Given the description of an element on the screen output the (x, y) to click on. 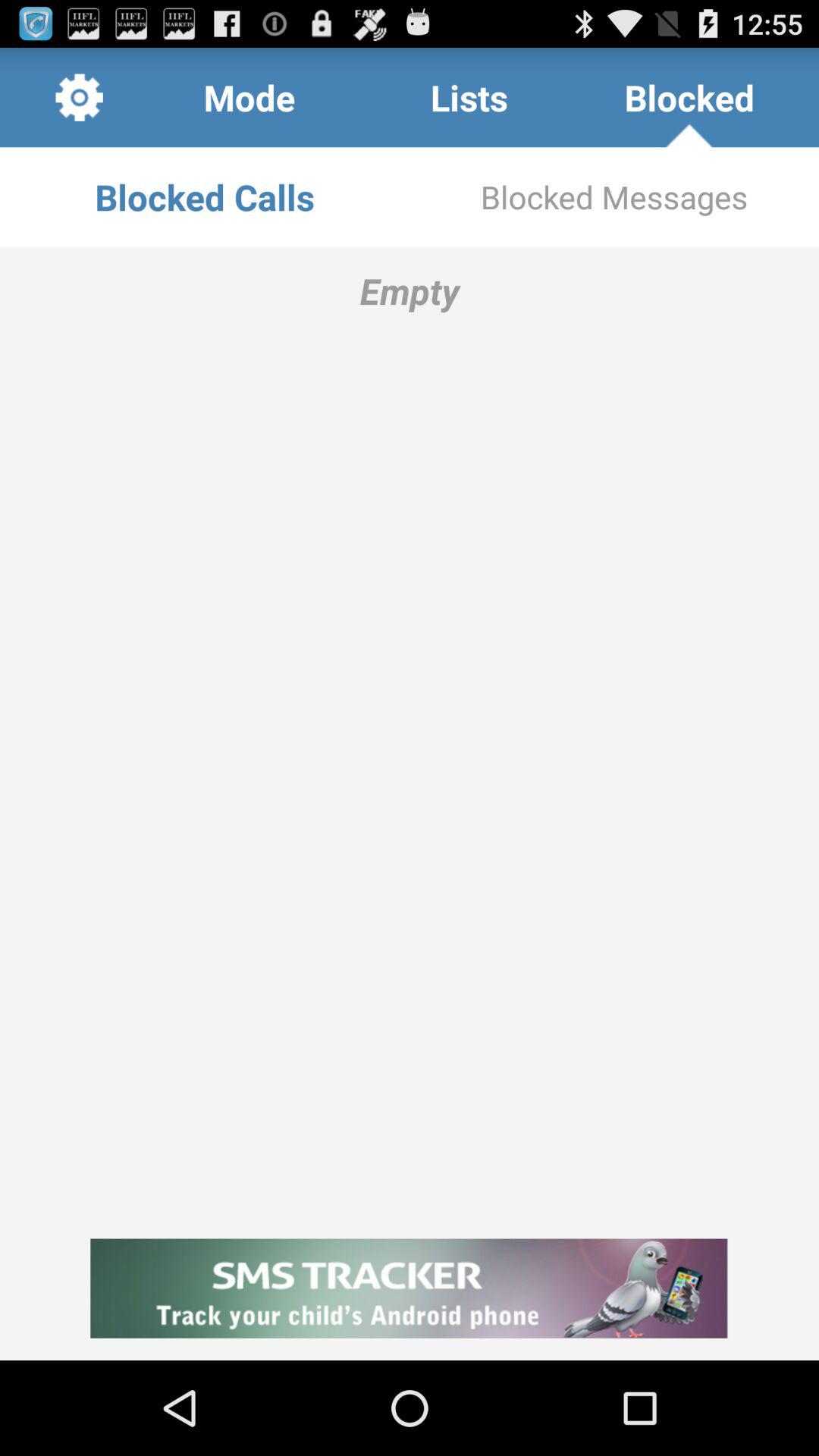
launch app next to the blocked calls icon (614, 196)
